Given the description of an element on the screen output the (x, y) to click on. 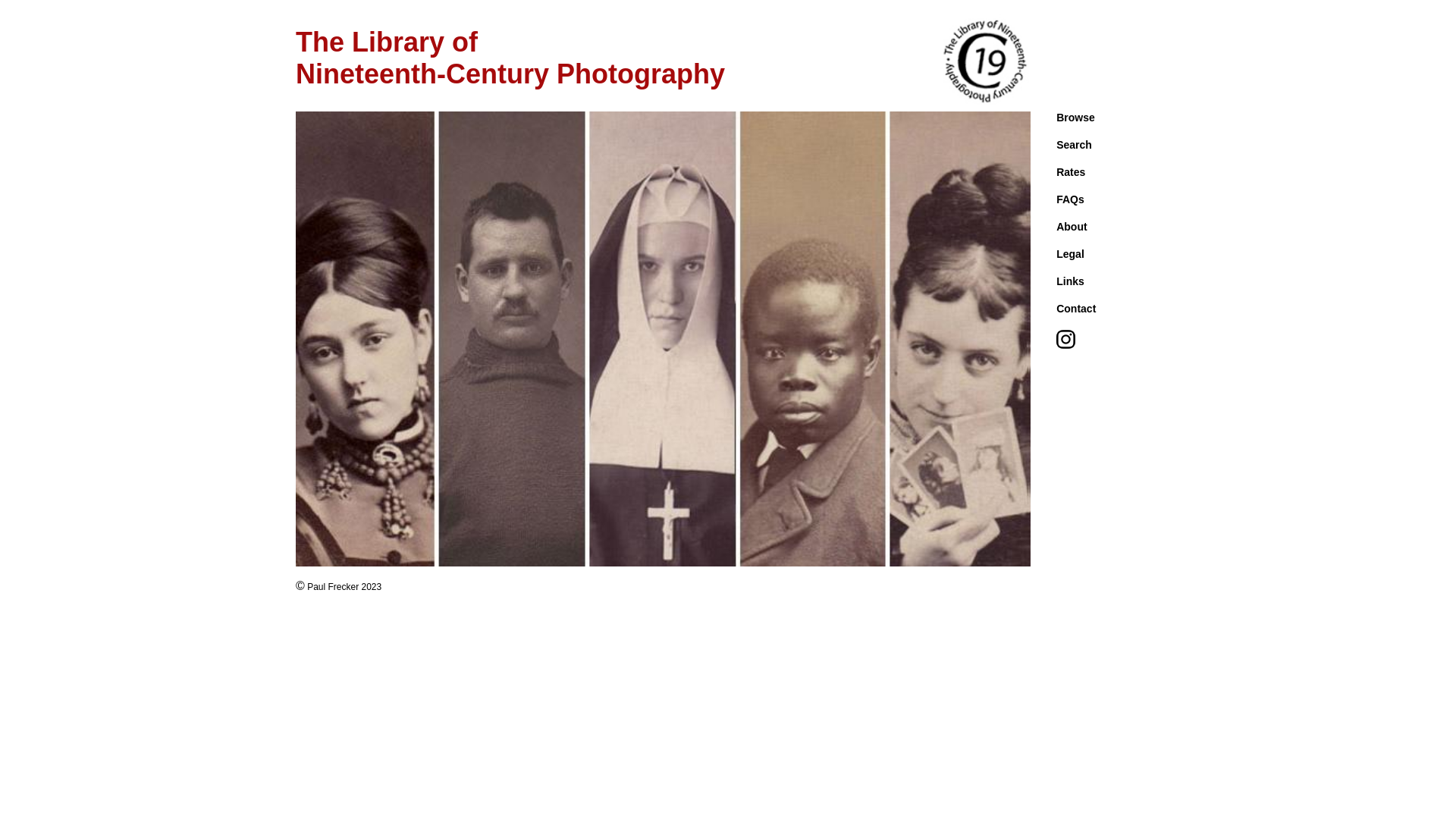
FAQs Element type: text (1070, 199)
Links Element type: text (1070, 281)
The Library of
Nineteenth-Century Photography Element type: text (509, 57)
Search Element type: text (1074, 144)
Legal Element type: text (1070, 253)
Browse Element type: text (1075, 117)
Contact Element type: text (1075, 308)
Follow us on Instagram Element type: hover (1065, 344)
About Element type: text (1071, 226)
Rates Element type: text (1070, 172)
